Given the description of an element on the screen output the (x, y) to click on. 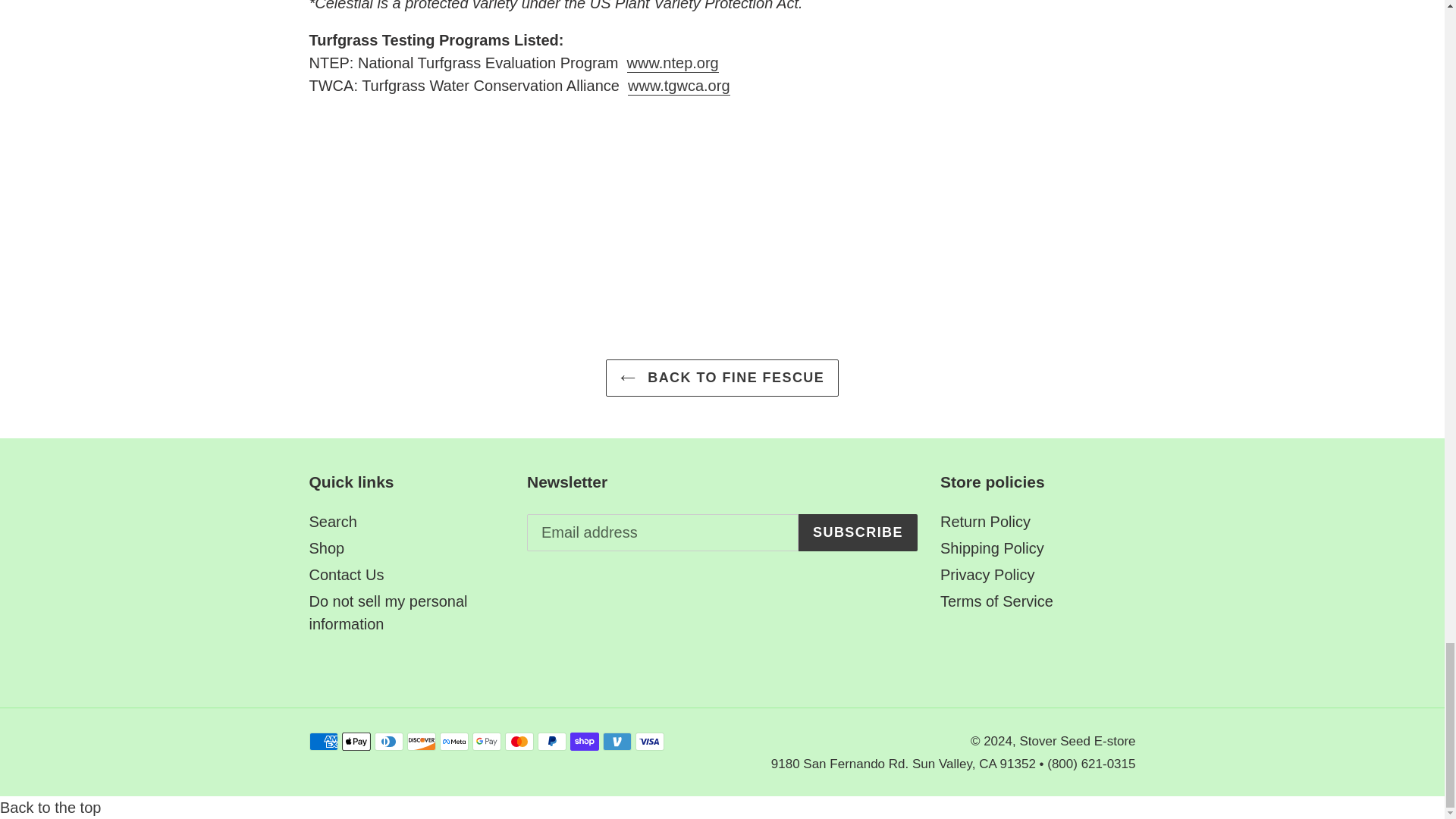
Back to the top (50, 807)
Turfgrass Water Conservation Alliance (678, 85)
National Turfgrass Evaluation Program (673, 63)
